Given the description of an element on the screen output the (x, y) to click on. 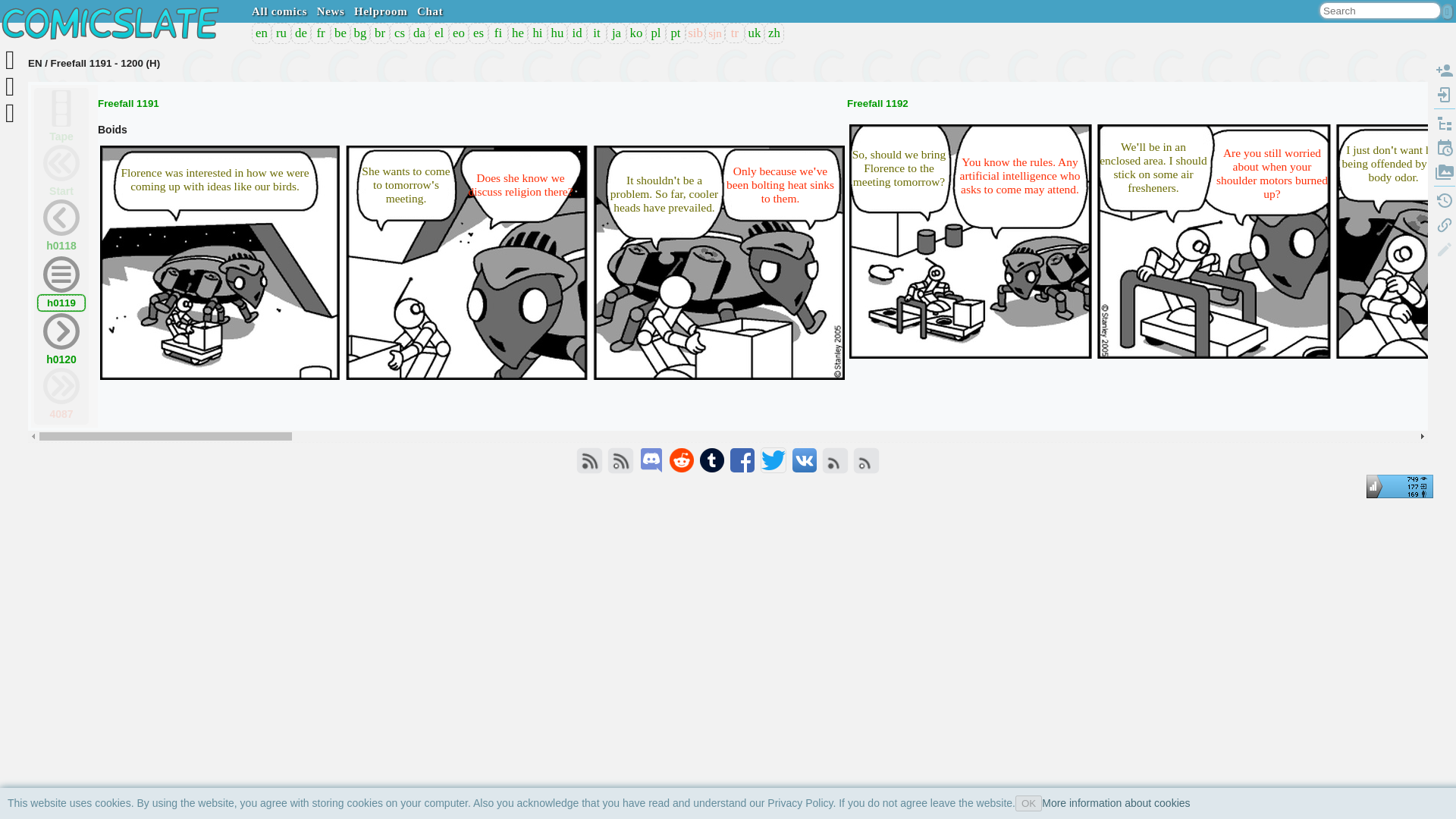
h0119 (60, 302)
id (576, 32)
4087 (60, 394)
sib (694, 32)
zh (774, 32)
cs (399, 32)
eo (458, 32)
de (301, 32)
pt (675, 32)
h0118 (60, 226)
Chat (429, 10)
he (517, 32)
da (419, 32)
hu (557, 32)
pl (655, 32)
